Given the description of an element on the screen output the (x, y) to click on. 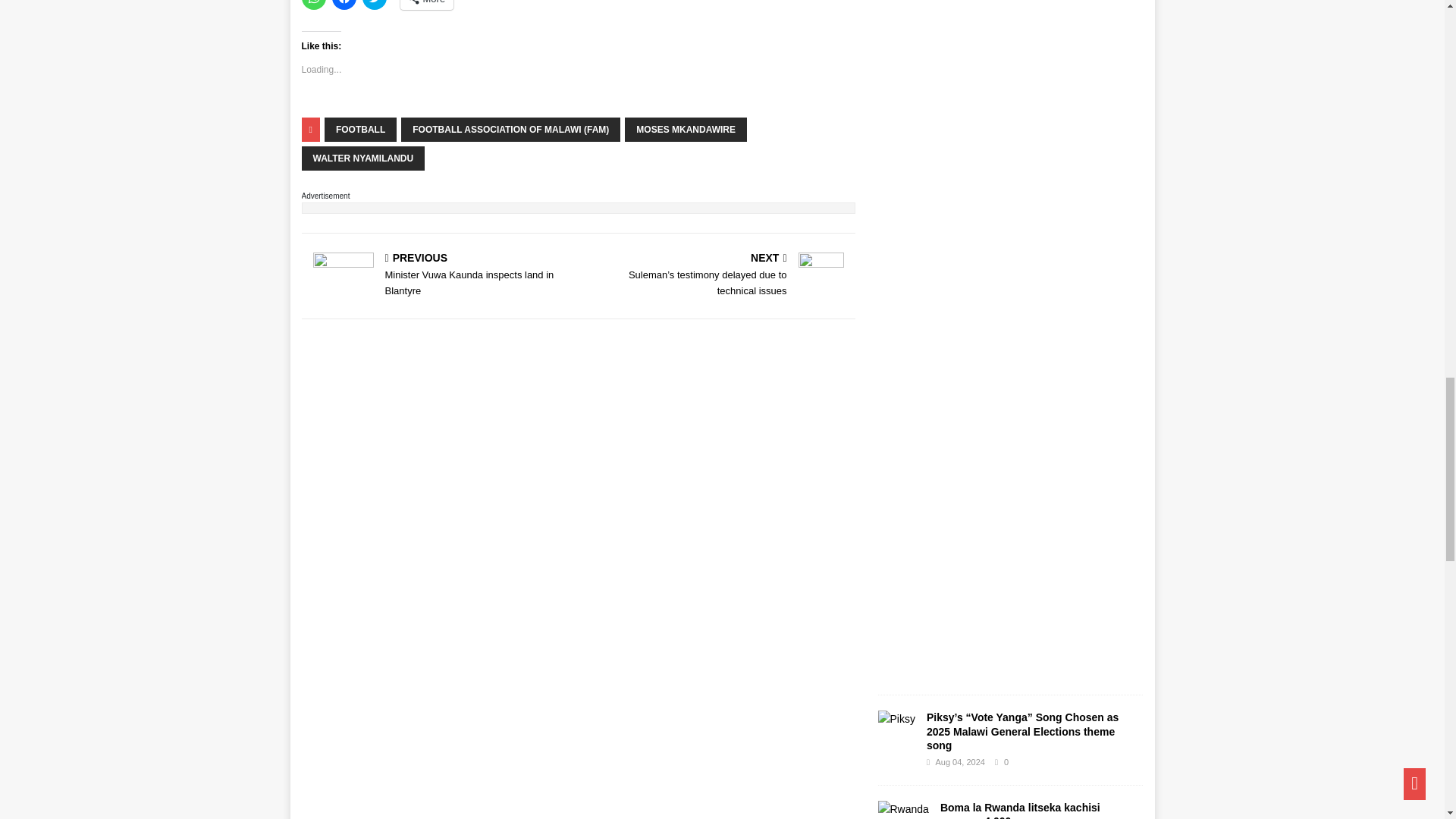
Click to share on WhatsApp (313, 4)
Click to share on Twitter (374, 4)
Click to share on Facebook (343, 4)
